Given the description of an element on the screen output the (x, y) to click on. 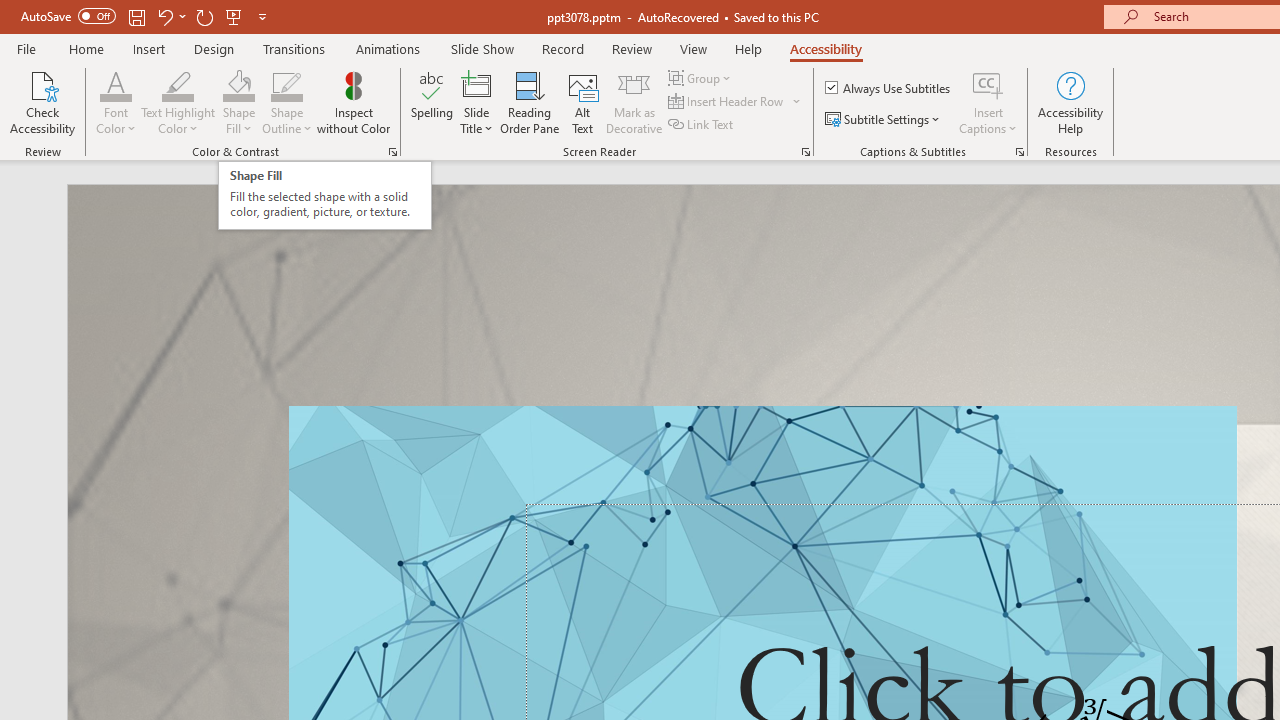
Inspect without Color (353, 102)
Accessibility (825, 48)
Font Color (116, 102)
Insert Header Row (735, 101)
Insert Header Row (727, 101)
